Given the description of an element on the screen output the (x, y) to click on. 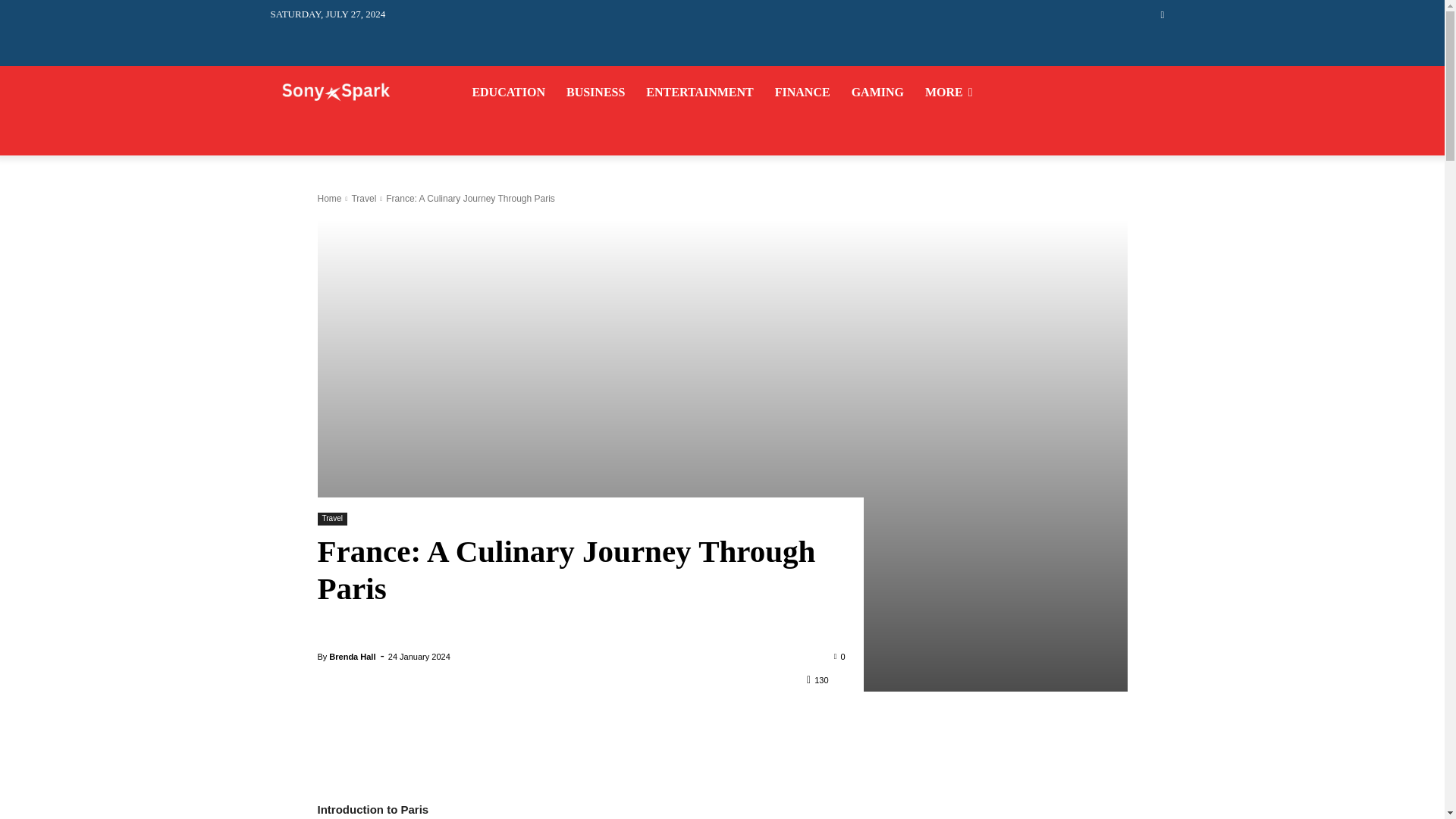
Travel (362, 198)
ENTERTAINMENT (699, 92)
FINANCE (801, 92)
Home (328, 198)
View all posts in Travel (362, 198)
GAMING (877, 92)
Travel (331, 518)
Brenda Hall (352, 656)
0 (839, 655)
BUSINESS (595, 92)
EDUCATION (507, 92)
